Given the description of an element on the screen output the (x, y) to click on. 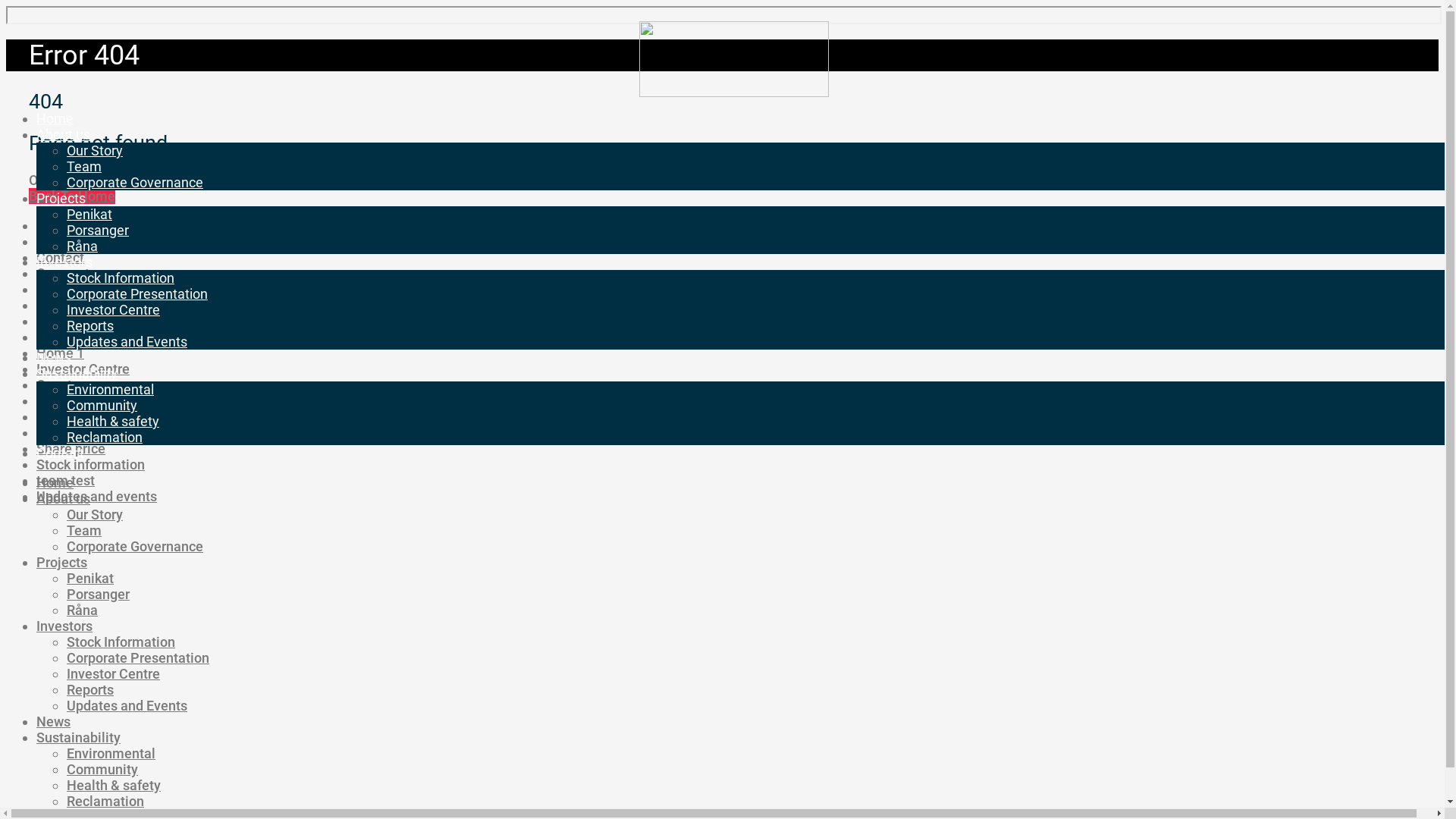
Stock Information Element type: text (120, 277)
Health & safety Element type: text (83, 337)
Community Element type: text (101, 405)
Stock Information Element type: text (120, 641)
team test Element type: text (65, 480)
Porsanger Element type: text (97, 594)
Back To Home Element type: text (71, 195)
Environmental Element type: text (110, 753)
Share price Element type: text (70, 448)
Our story Element type: text (63, 384)
Environmental Element type: text (80, 321)
Penikat Element type: text (89, 578)
Investor Centre Element type: text (113, 673)
Updates and Events Element type: text (126, 705)
Our Team Element type: text (65, 400)
Team Element type: text (83, 166)
Projects Element type: text (61, 562)
Reclamation Element type: text (74, 416)
Our Story Element type: text (94, 150)
Elementor #5058 Element type: text (88, 305)
About us Element type: text (63, 134)
Projects Element type: text (60, 198)
Corporate Governance Element type: text (134, 182)
Investor Centre Element type: text (113, 309)
Our Story Element type: text (94, 514)
Investor Centre Element type: text (82, 368)
Health & safety Element type: text (112, 421)
Reports Element type: text (89, 689)
Corporate Governance Element type: text (134, 546)
Porsanger Element type: text (97, 230)
ASX announcements Element type: text (99, 225)
Reclamation Element type: text (104, 437)
Corporate Presentation Element type: text (137, 657)
Stock information Element type: text (90, 464)
Corporate governance Element type: text (103, 273)
Reports Element type: text (89, 325)
About us Element type: text (63, 498)
Environmental Element type: text (109, 389)
Contact Element type: text (60, 257)
Reports Element type: text (59, 432)
Community Element type: text (102, 769)
Home Element type: text (54, 118)
Home Element type: text (54, 482)
News Element type: text (53, 721)
Updates and Events Element type: text (126, 341)
Corporate presentation Element type: text (106, 289)
Home 1 Element type: text (60, 352)
Health & safety Element type: text (113, 785)
Reclamation Element type: text (105, 801)
News Element type: text (53, 357)
Community Element type: text (71, 241)
Corporate Presentation Element type: text (136, 293)
Sustainability Element type: text (76, 373)
Penikat Element type: text (89, 214)
Sustainability Element type: text (78, 737)
Investors Element type: text (64, 261)
Team Element type: text (83, 530)
Contact Element type: text (60, 453)
Investors Element type: text (64, 625)
Updates and events Element type: text (96, 496)
